Given the description of an element on the screen output the (x, y) to click on. 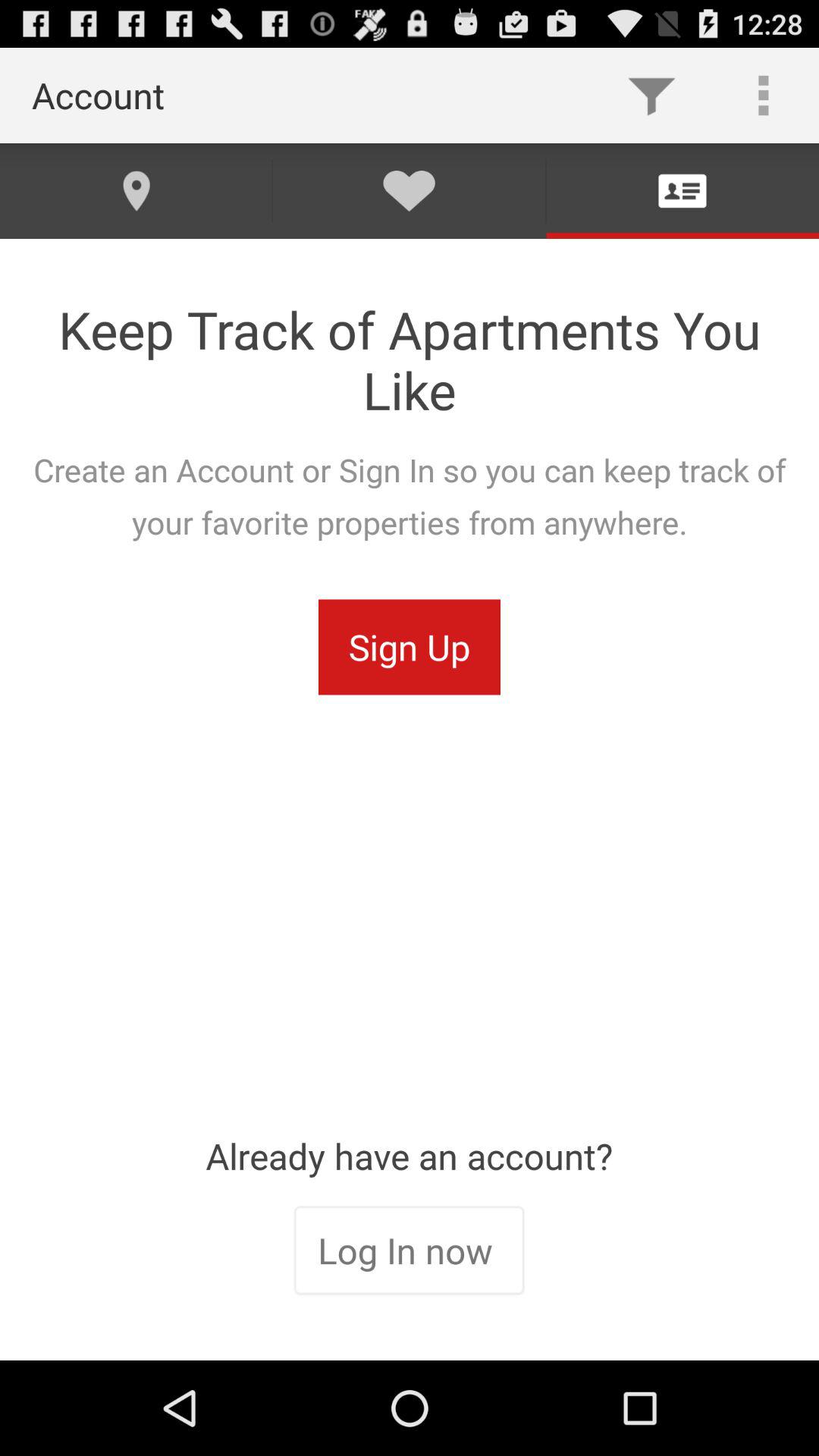
open the icon below the already have an item (409, 1252)
